Given the description of an element on the screen output the (x, y) to click on. 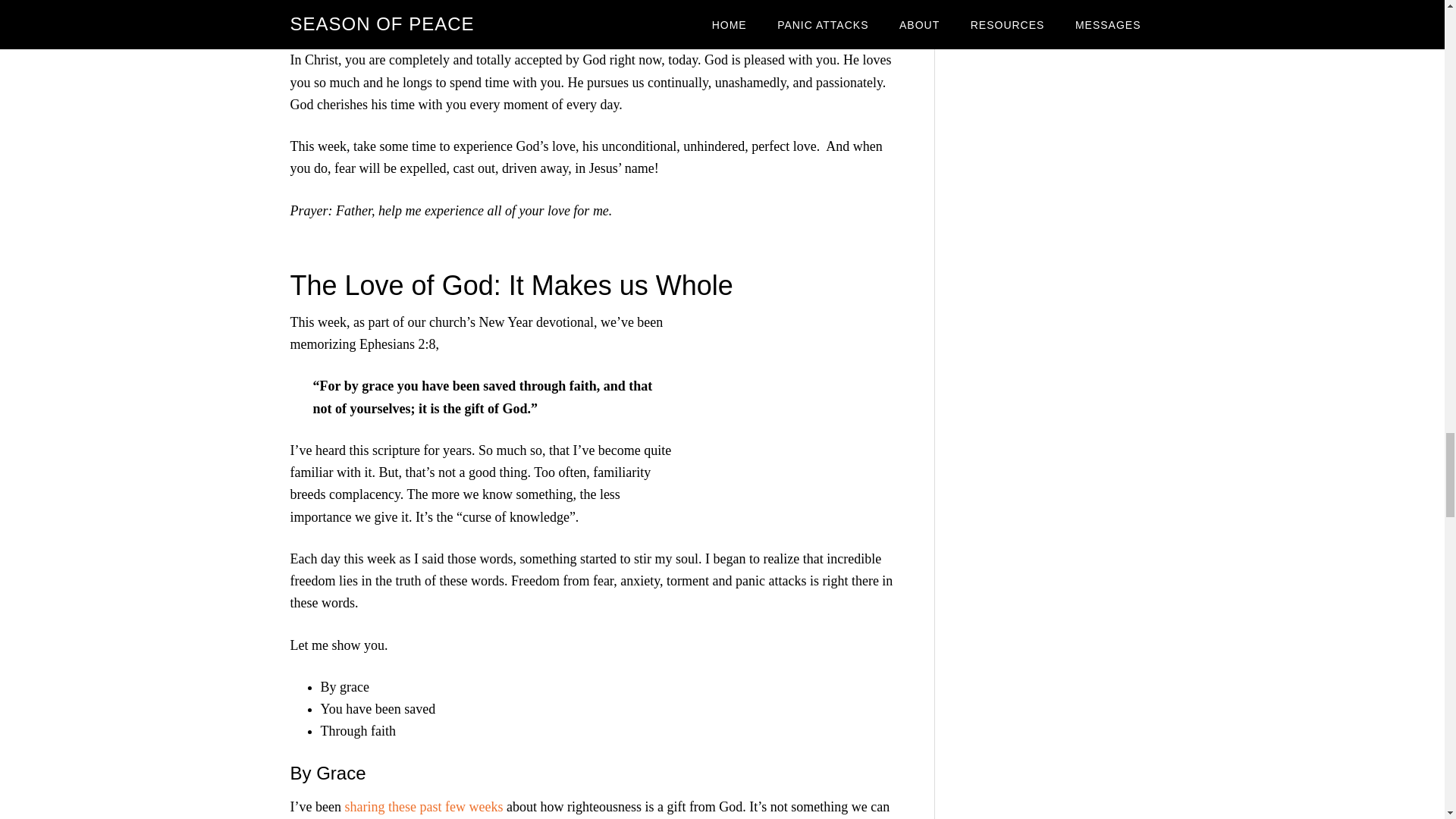
The Love of God: It Makes Us Whole (797, 418)
